Given the description of an element on the screen output the (x, y) to click on. 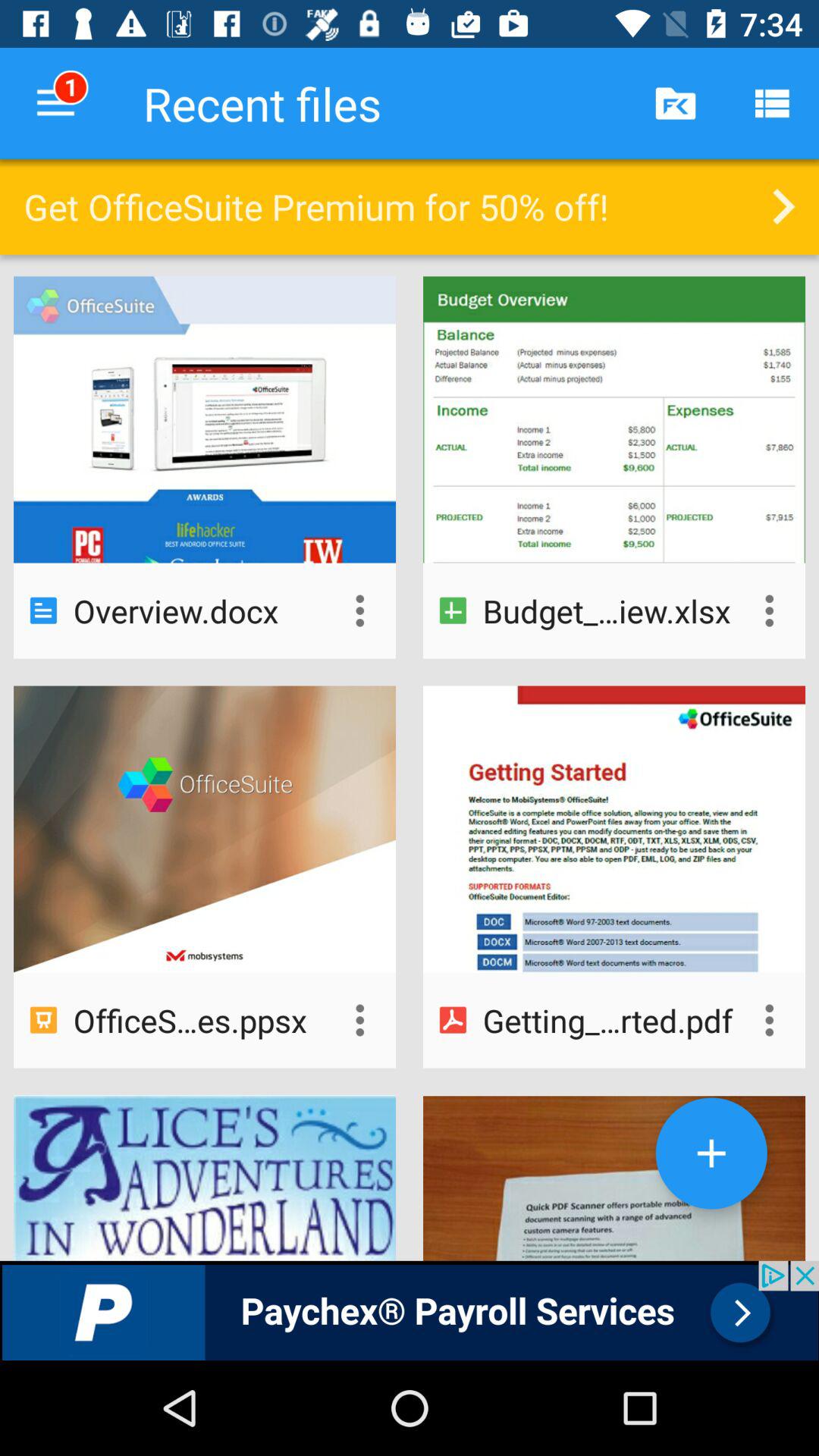
detail button (359, 610)
